Given the description of an element on the screen output the (x, y) to click on. 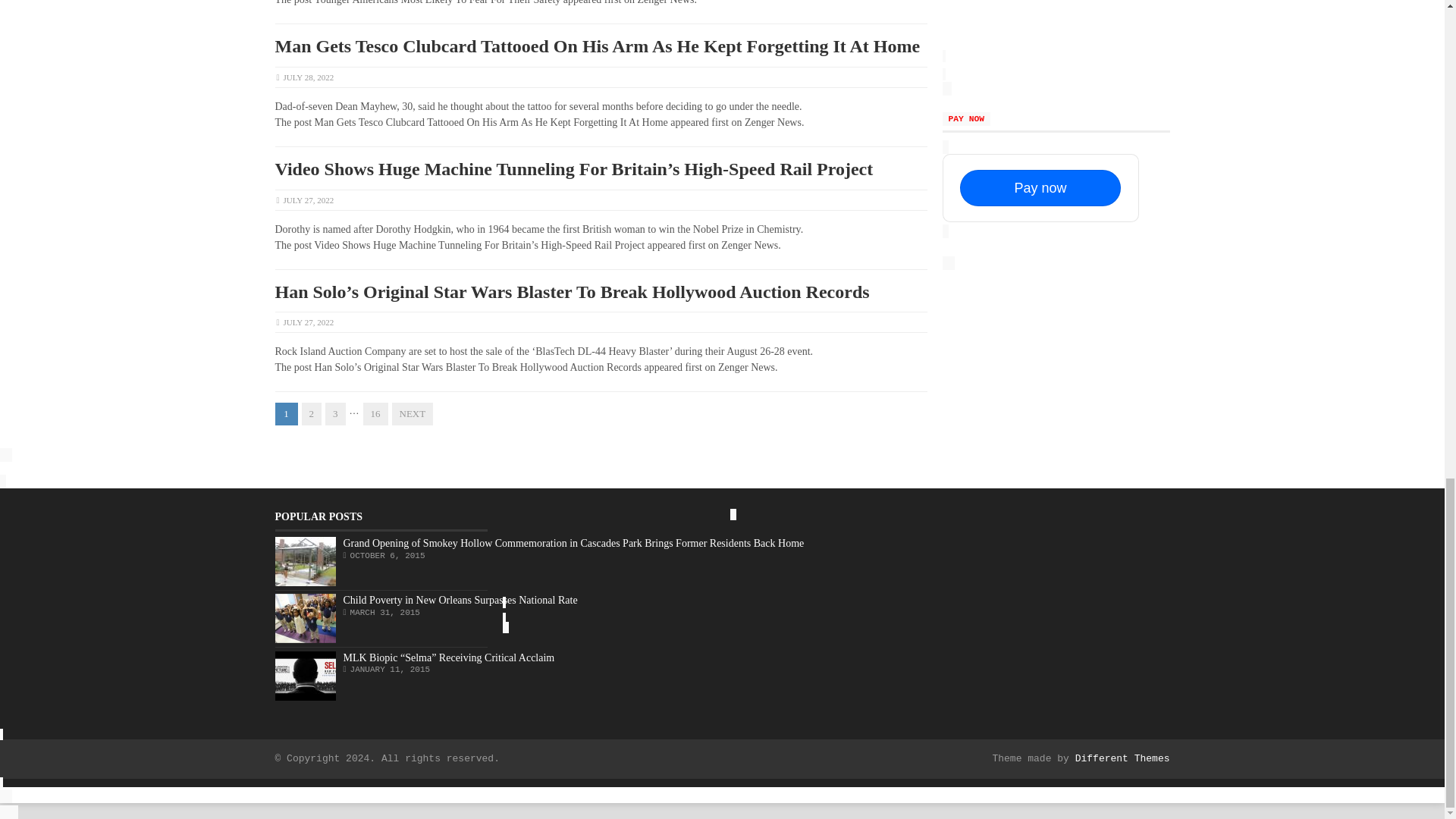
NEXT (411, 413)
3 (335, 413)
2 (311, 413)
Child Poverty in New Orleans Surpasses National Rate (304, 617)
16 (374, 413)
Pay now (1040, 187)
Child Poverty in New Orleans Surpasses National Rate (459, 600)
